Given the description of an element on the screen output the (x, y) to click on. 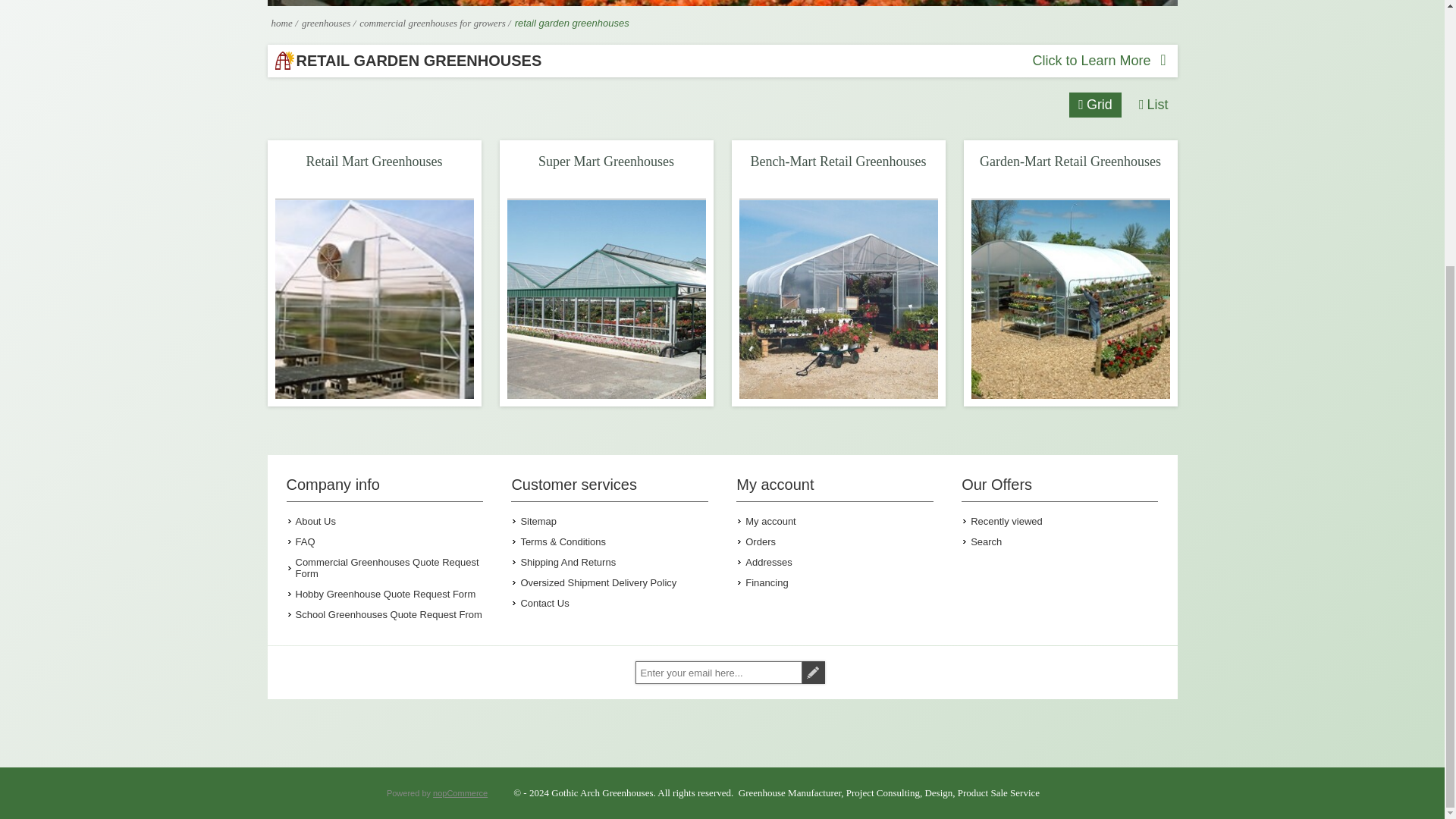
Commercial Greenhouses for Growers (433, 22)
Show details for Super Mart Greenhouses (605, 298)
Home (281, 22)
Garden-Mart  Retail Greenhouses (1070, 298)
Show details for Retail Mart Greenhouses (374, 298)
Greenhouses  (327, 22)
Bench-Mart Retail Greenhouse (837, 298)
